Given the description of an element on the screen output the (x, y) to click on. 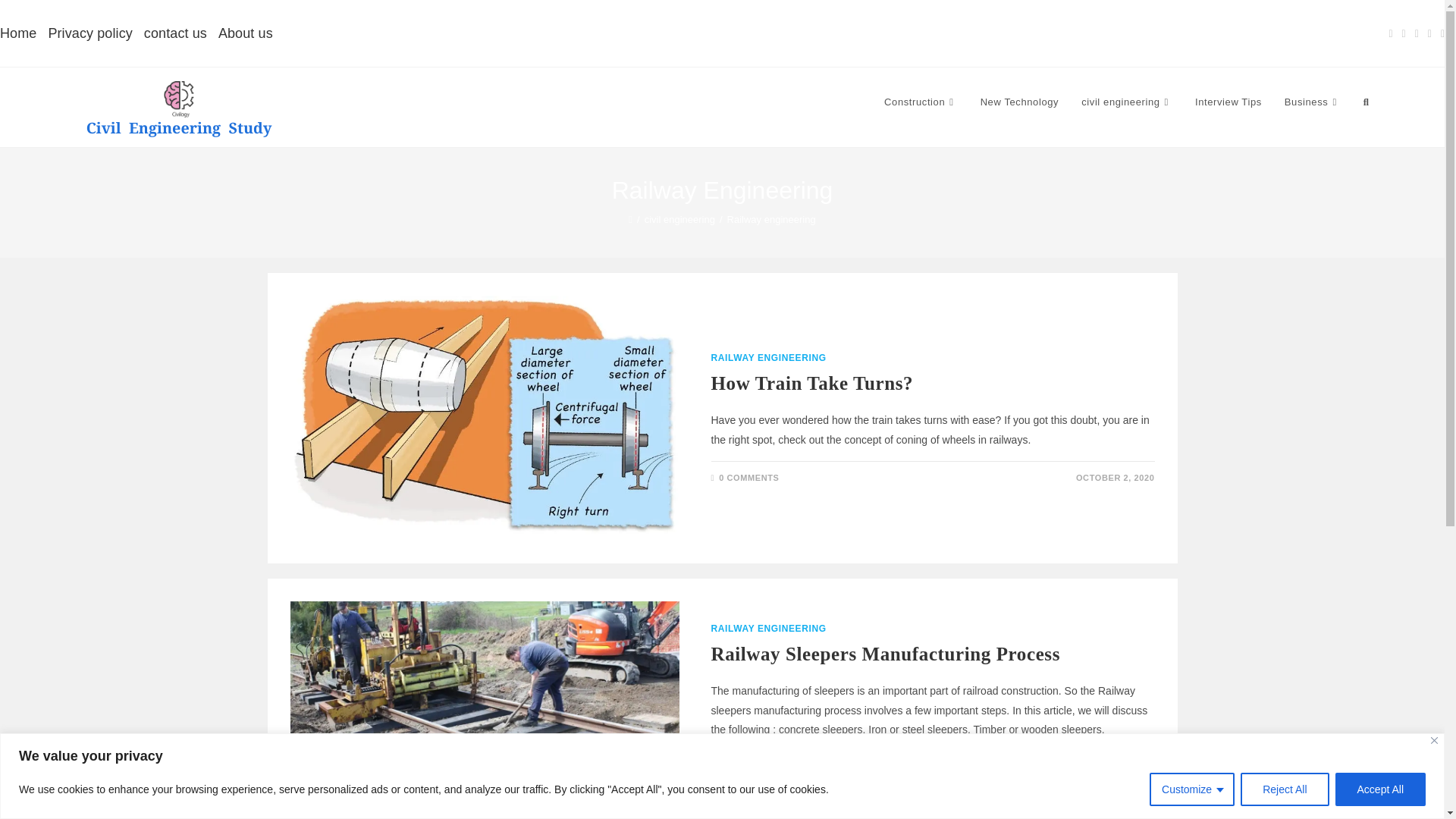
Construction (920, 102)
Accept All (1380, 788)
contact us (175, 32)
About us (245, 32)
civil engineering (1126, 102)
Customize (1192, 788)
New Technology (1019, 102)
Privacy policy (90, 32)
Business (1312, 102)
Interview Tips (1227, 102)
Reject All (1283, 788)
